Given the description of an element on the screen output the (x, y) to click on. 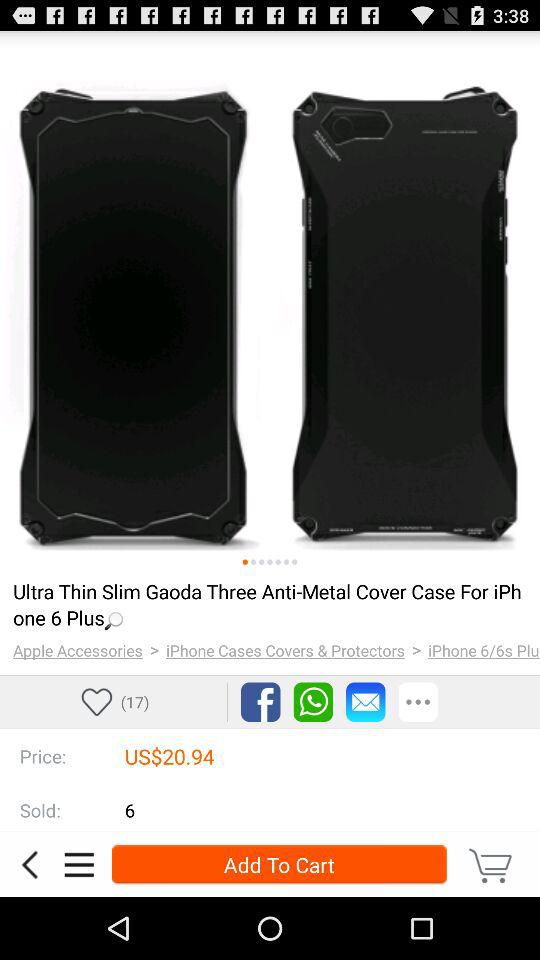
go to whatsapp (313, 701)
